Given the description of an element on the screen output the (x, y) to click on. 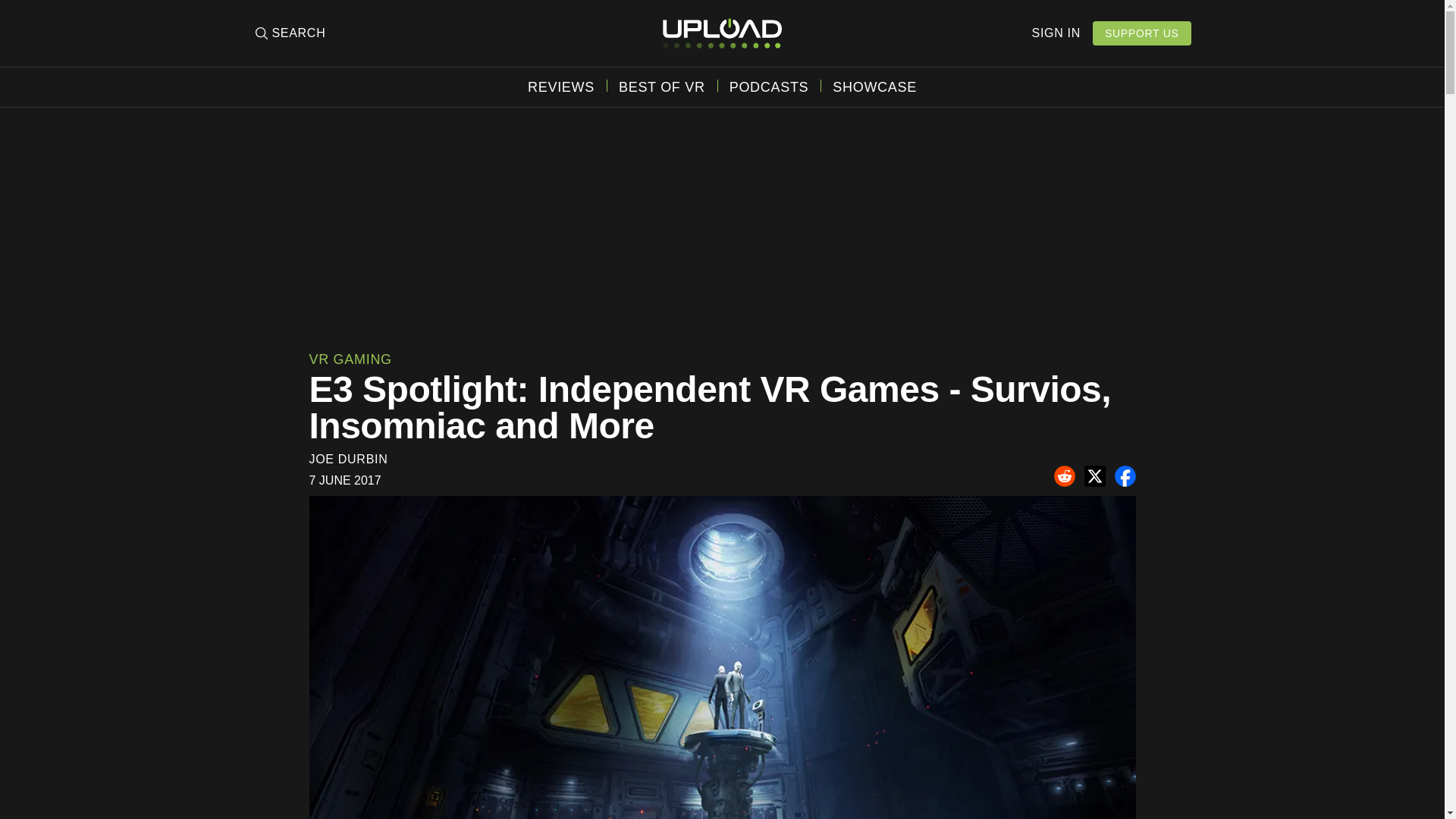
SHOWCASE (874, 87)
JOE DURBIN (348, 459)
BEST OF VR (661, 87)
VR GAMING (349, 359)
Share to Facebook (1125, 476)
Share to Twitter (1094, 476)
SIGN IN (1056, 32)
SUPPORT US (1142, 33)
Share to Reddit (1064, 476)
SEARCH (288, 32)
PODCASTS (769, 87)
REVIEWS (560, 87)
